Given the description of an element on the screen output the (x, y) to click on. 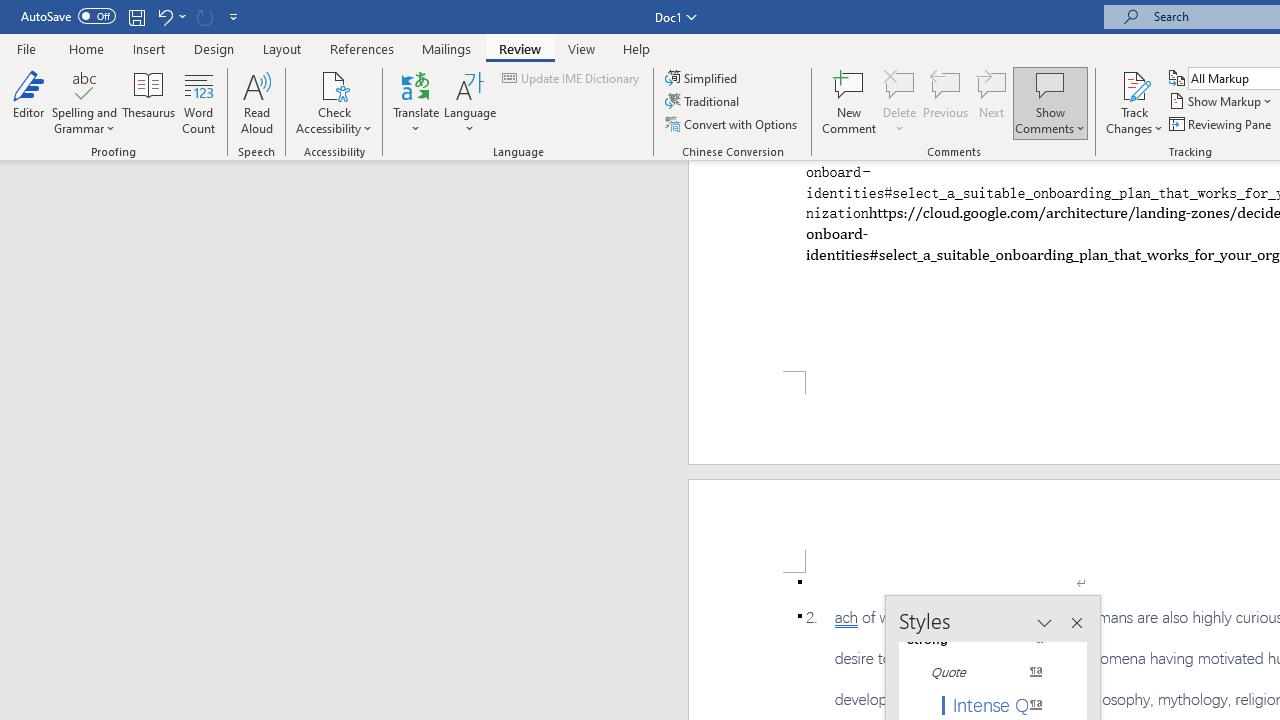
Simplified (702, 78)
Convert with Options... (732, 124)
Reviewing Pane (1221, 124)
